Given the description of an element on the screen output the (x, y) to click on. 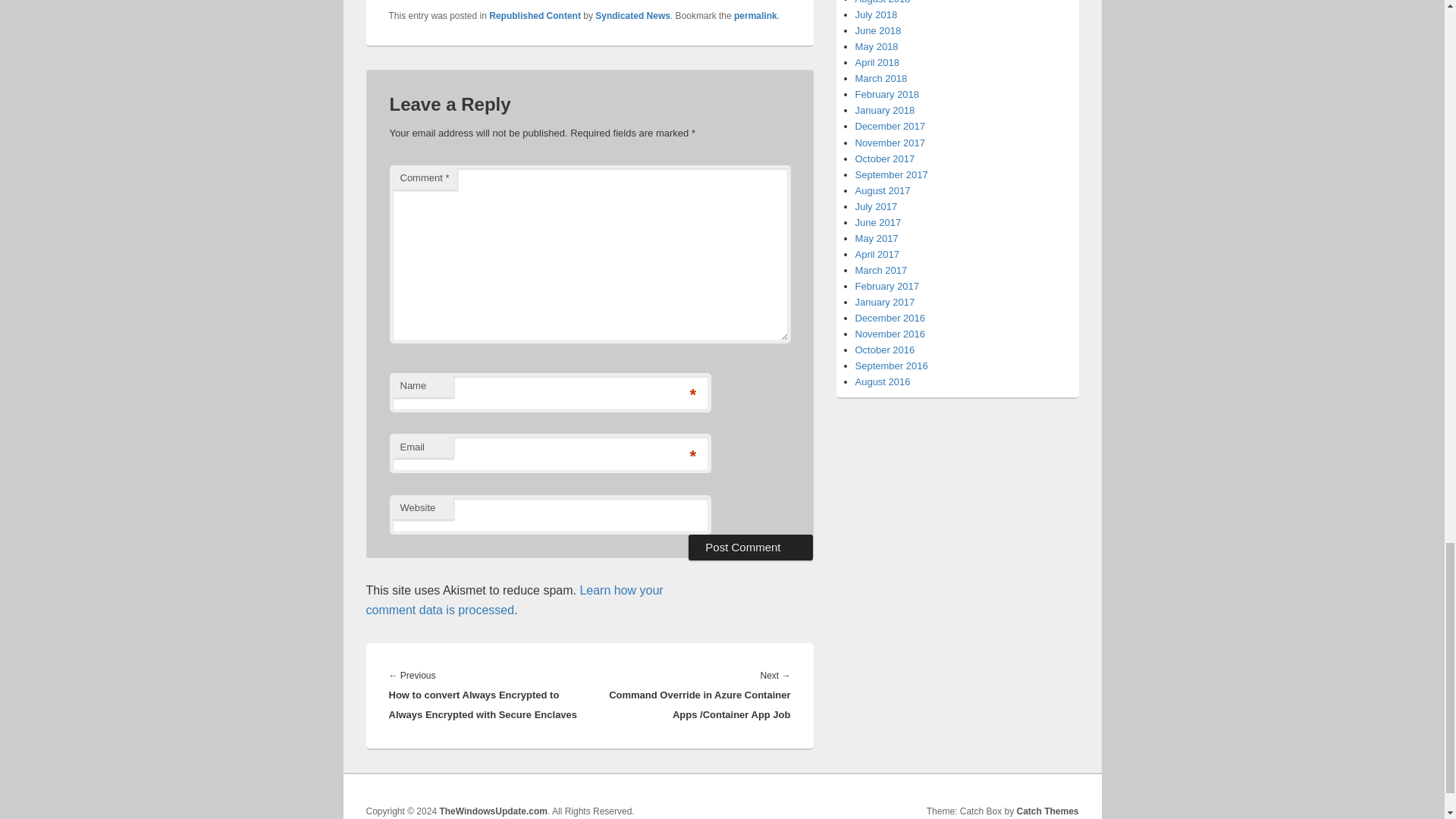
Post Comment (750, 547)
Post Comment (750, 547)
permalink (755, 15)
Learn how your comment data is processed (513, 599)
Republished Content (534, 15)
Syndicated News (632, 15)
TheWindowsUpdate.com (493, 810)
Catch Themes (1047, 810)
